Given the description of an element on the screen output the (x, y) to click on. 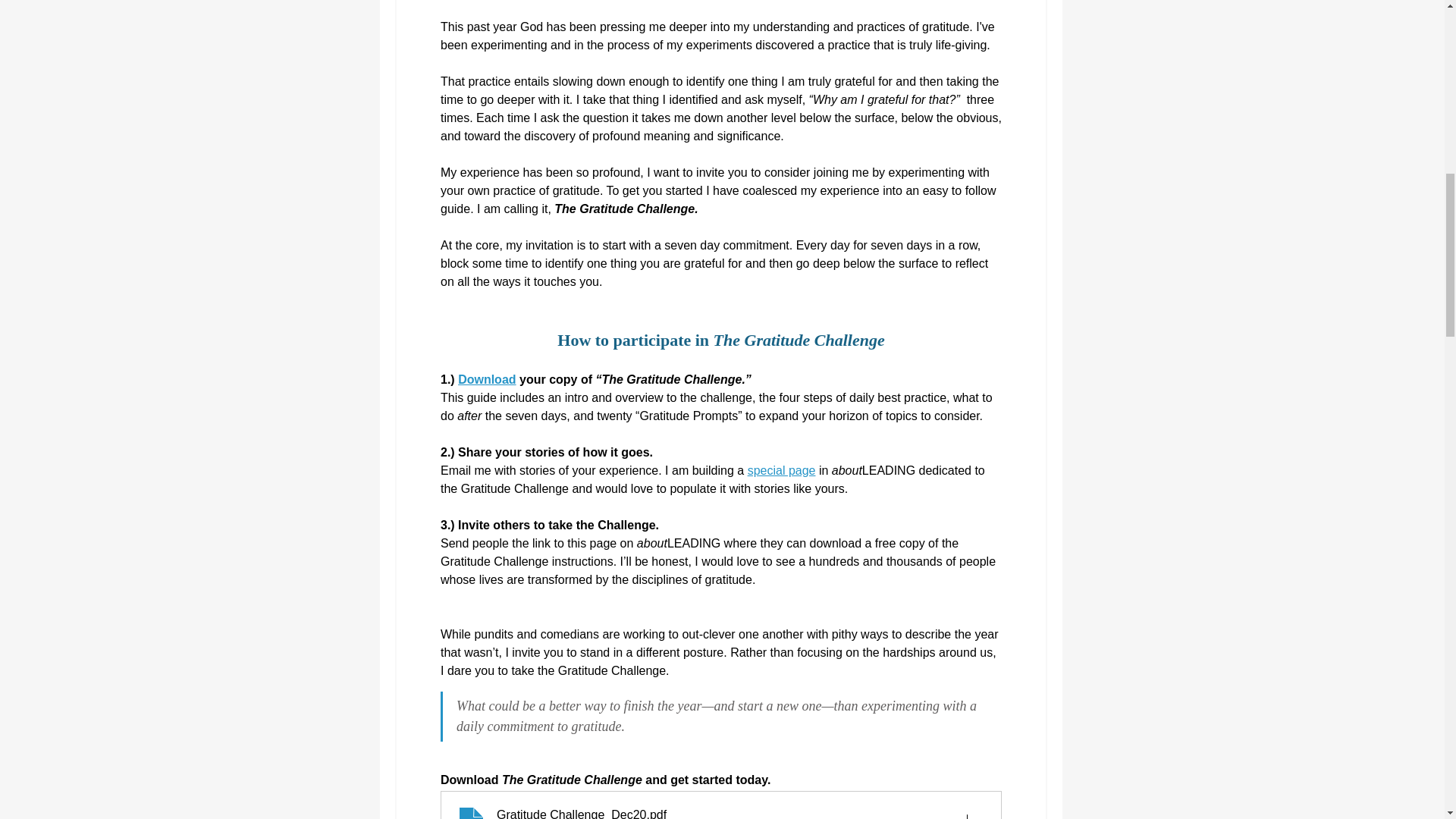
special page (780, 470)
Download (486, 379)
